Given the description of an element on the screen output the (x, y) to click on. 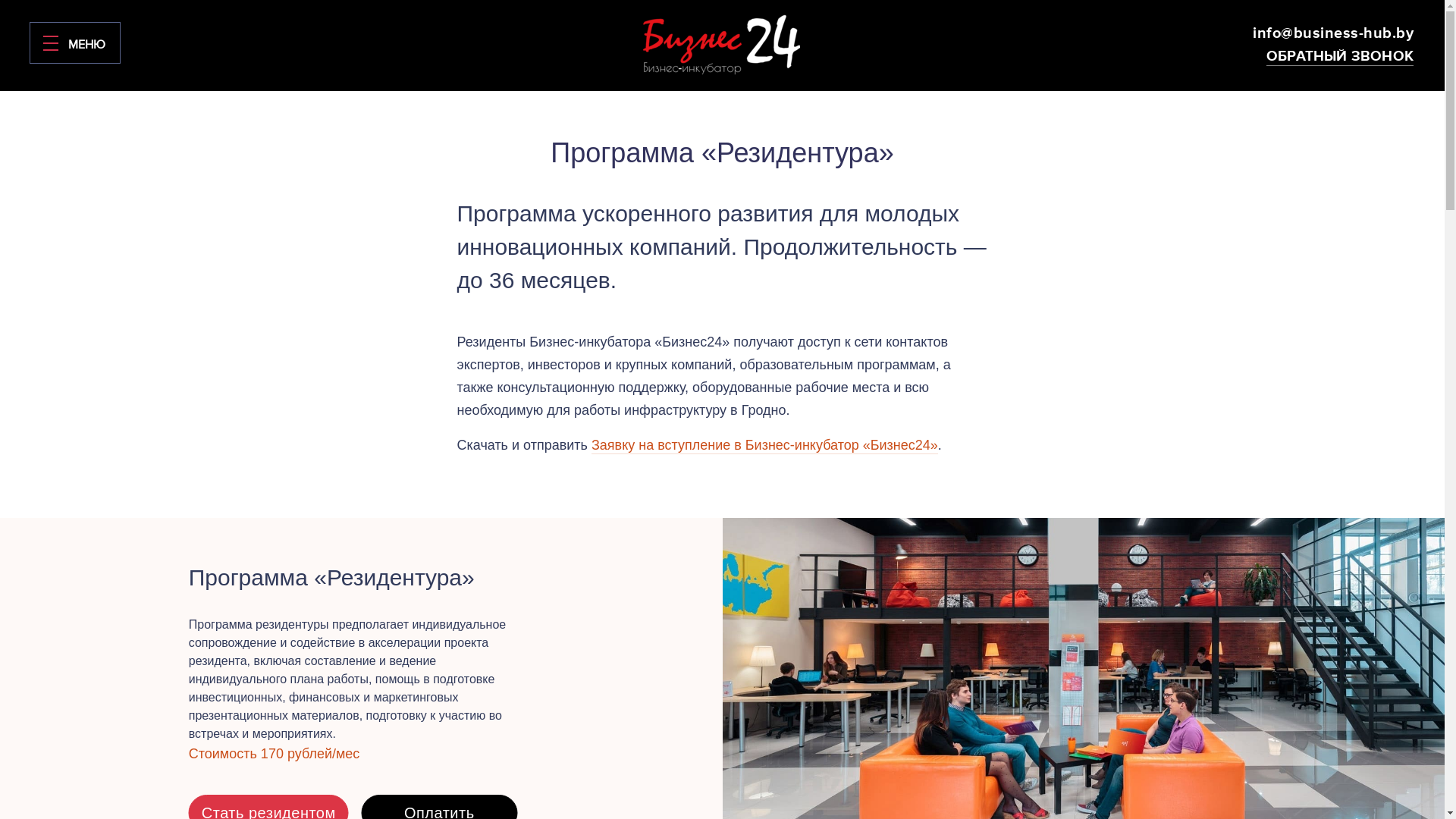
info@business-hub.by Element type: text (1332, 33)
